Given the description of an element on the screen output the (x, y) to click on. 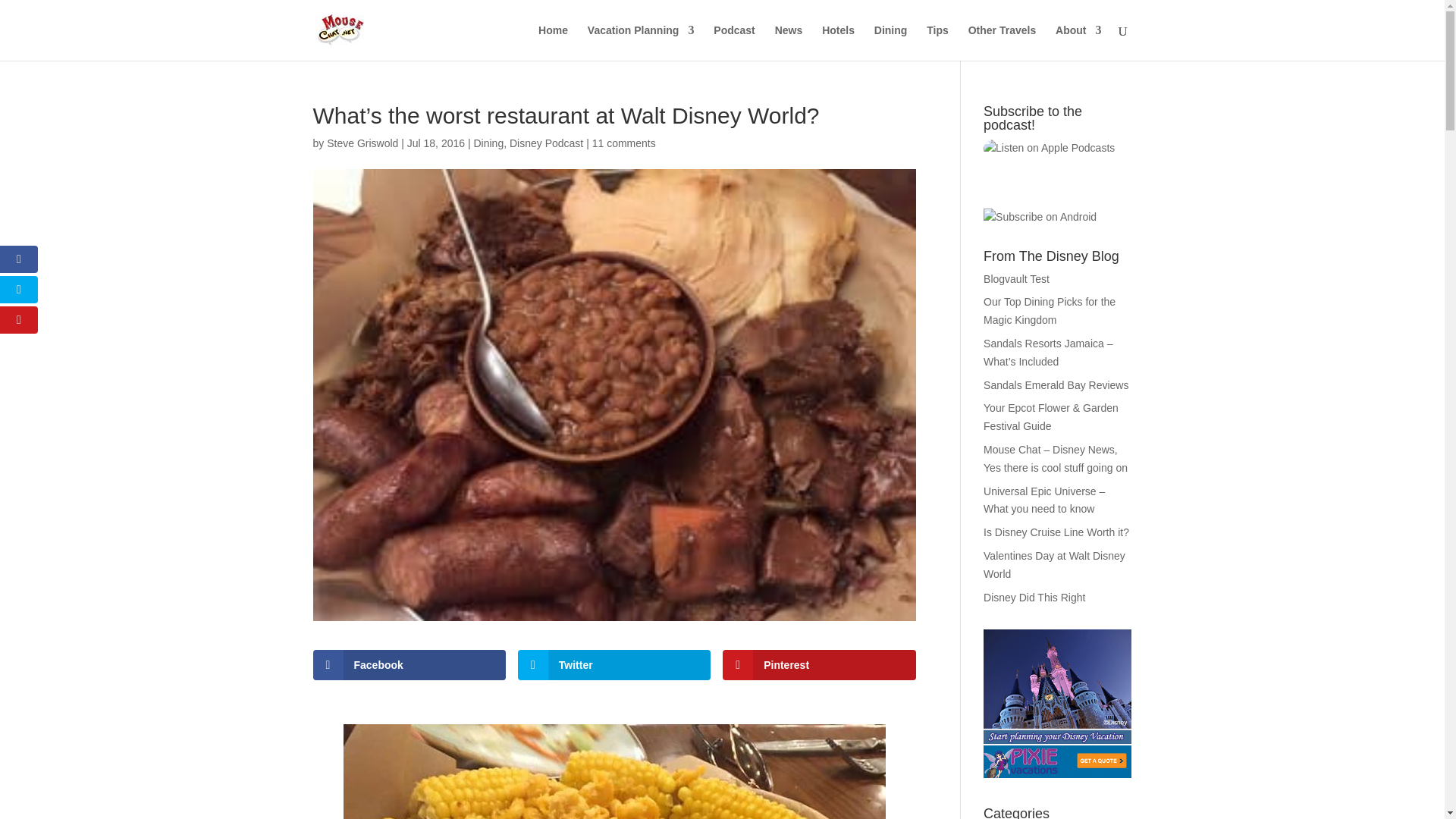
11 comments (624, 143)
About (1077, 42)
Posts by Steve Griswold (361, 143)
Dining (891, 42)
Facebook (409, 665)
Twitter (614, 665)
Vacation Planning (641, 42)
Other Travels (1002, 42)
Pinterest (818, 665)
Podcast (733, 42)
